Given the description of an element on the screen output the (x, y) to click on. 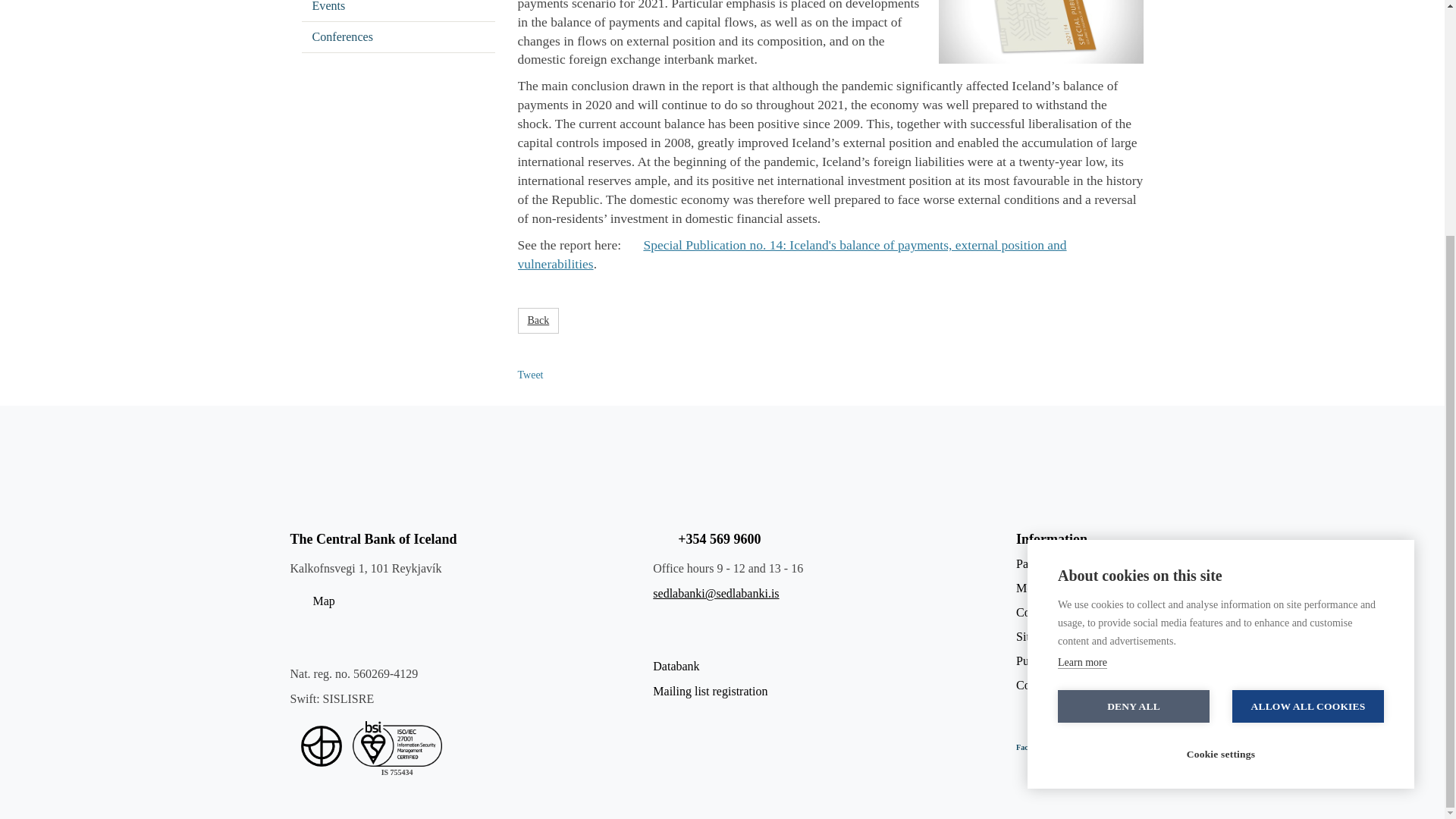
Send an email to the Central Bank of Iceland (715, 593)
Link to the publication (790, 254)
Jafnlaunavottun (320, 744)
A map that shows the location of The Central Bank of Iceland (470, 600)
